Given the description of an element on the screen output the (x, y) to click on. 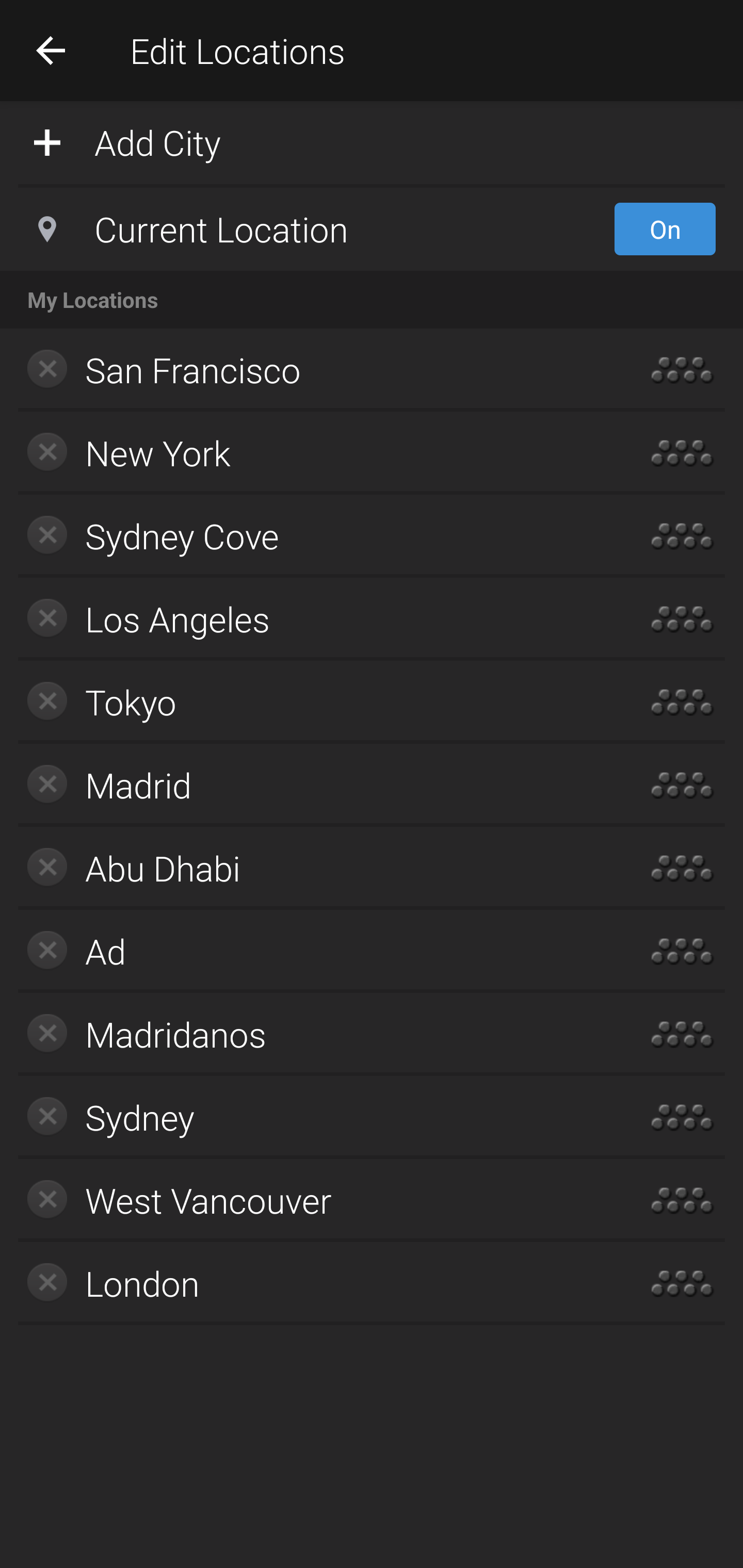
Navigate up (50, 50)
Add City (371, 141)
Current Location: On Current Location On (371, 229)
Delete: San Francisco San Francisco (311, 369)
Delete: New York New York (311, 452)
Delete: Sydney Cove Sydney Cove (311, 535)
Delete: Los Angeles Los Angeles (311, 618)
Delete: Tokyo Tokyo (311, 701)
Delete: Madrid Madrid (311, 784)
Delete: Abu Dhabi Abu Dhabi (311, 867)
Delete: Ad Ad (311, 950)
Delete: Madridanos Madridanos (311, 1033)
Delete: Sydney Sydney (311, 1116)
Delete: West Vancouver West Vancouver (311, 1200)
Delete: London London (311, 1283)
